Given the description of an element on the screen output the (x, y) to click on. 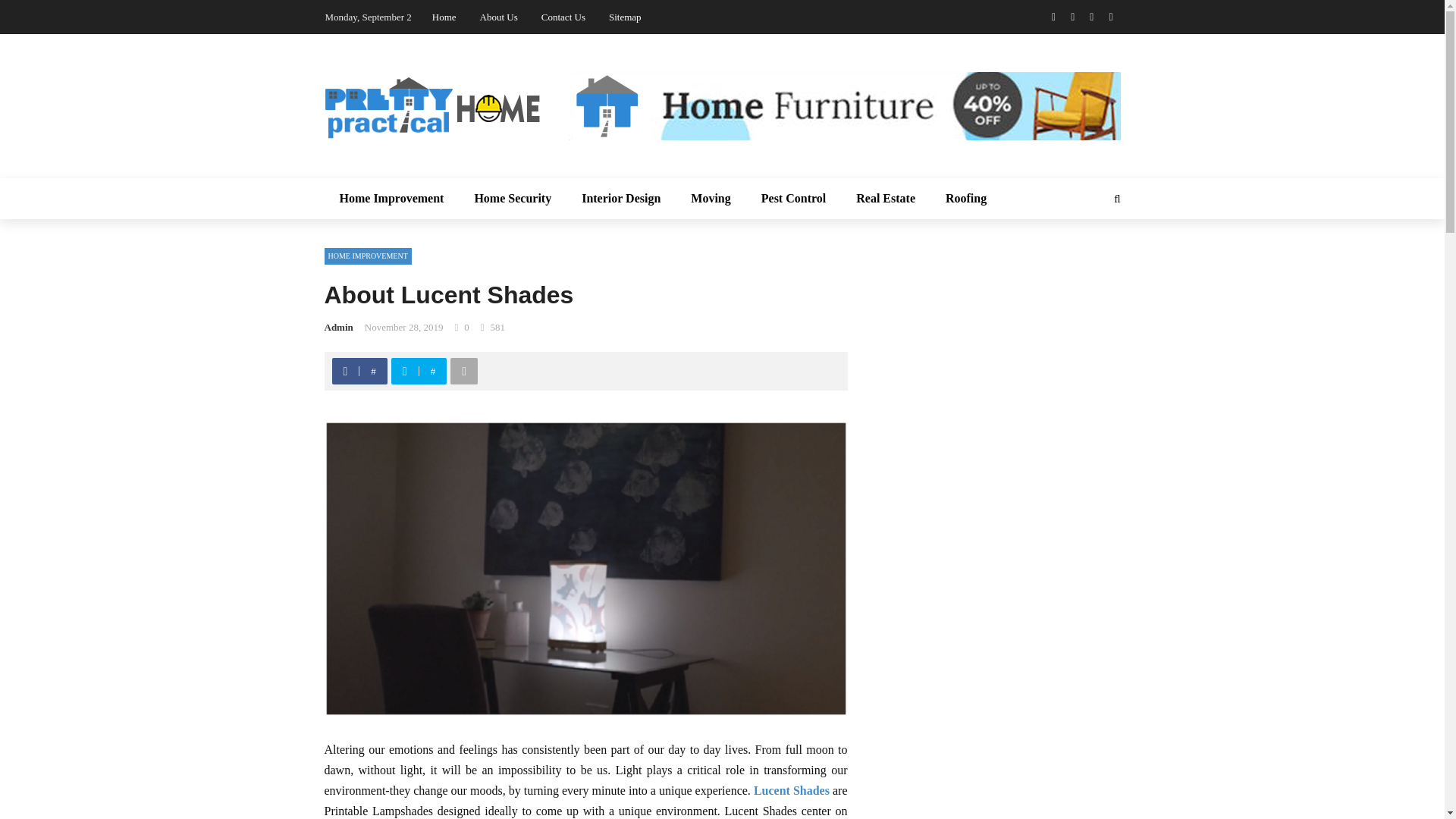
Real Estate (885, 198)
About Us (499, 16)
Pest Control (793, 198)
Home Improvement (392, 198)
Roofing (965, 198)
Home Security (512, 198)
Home (444, 16)
Admin (338, 326)
Moving (710, 198)
Interior Design (620, 198)
